Given the description of an element on the screen output the (x, y) to click on. 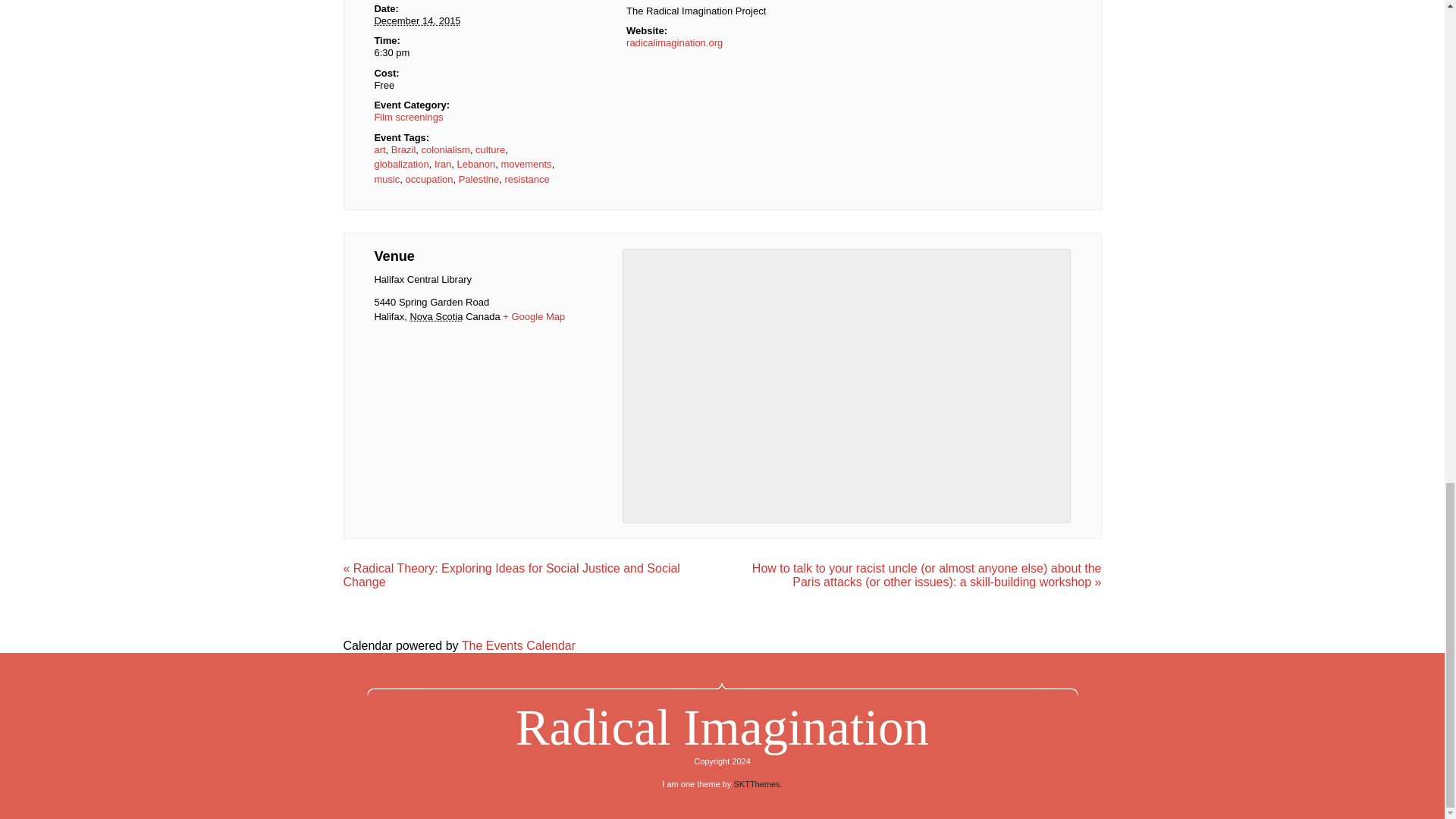
2015-12-14 (470, 52)
2015-12-14 (417, 20)
Nova Scotia (436, 316)
